Given the description of an element on the screen output the (x, y) to click on. 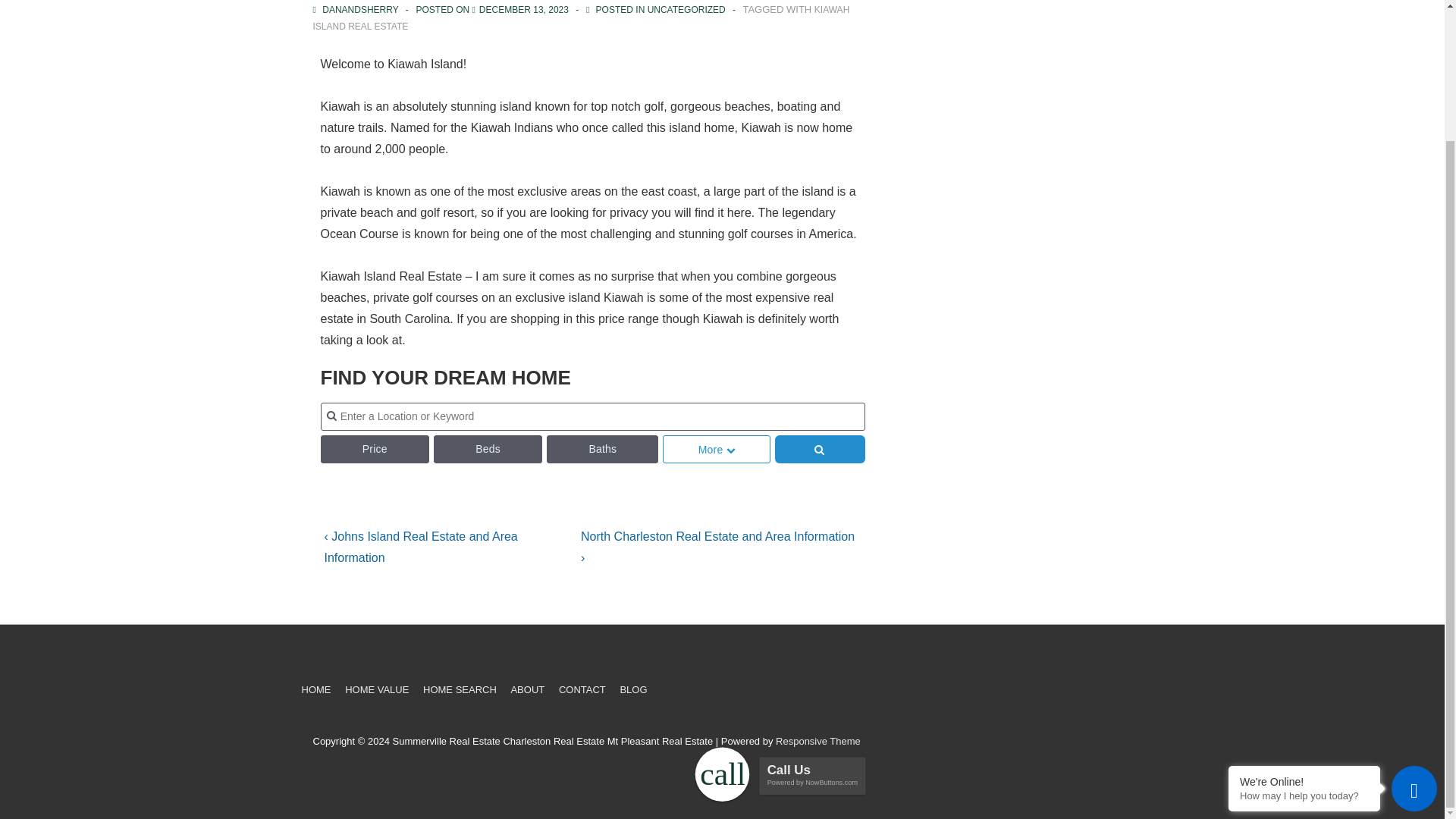
We're Online! (1304, 622)
HOME SEARCH (459, 689)
Kiawah Island Real Estate and Area Information (524, 9)
CONTACT (582, 689)
DANANDSHERRY (356, 9)
HOME VALUE (377, 689)
KIAWAH ISLAND REAL ESTATE (580, 18)
How may I help you today? (1304, 636)
Responsive Theme (818, 740)
DECEMBER 13, 2023 (524, 9)
call (715, 608)
View all posts by danandsherry (356, 9)
BLOG (633, 689)
ABOUT (527, 689)
HOME (316, 689)
